Given the description of an element on the screen output the (x, y) to click on. 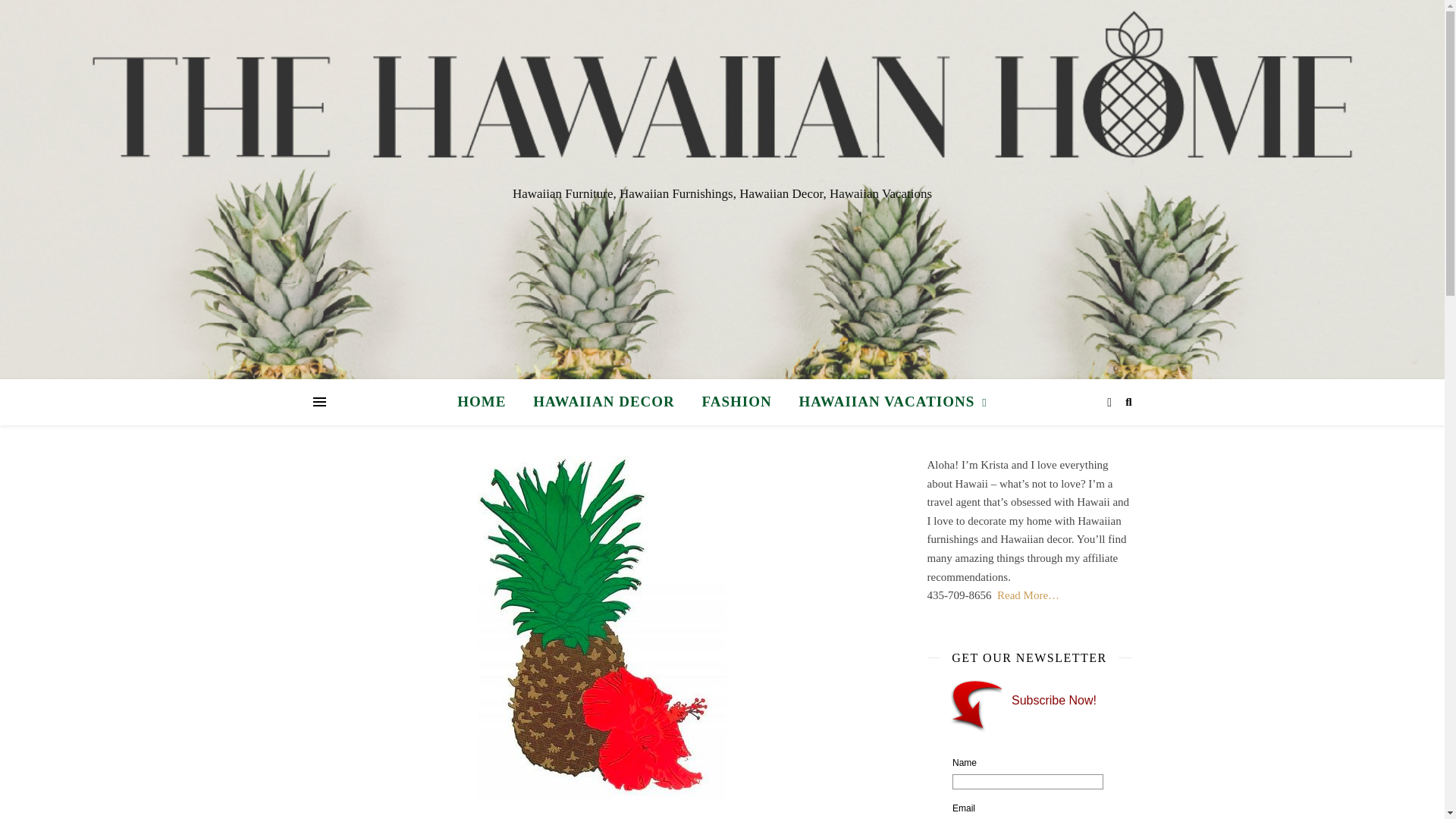
FASHION (737, 402)
HAWAIIAN VACATIONS (886, 402)
HOME (487, 402)
HAWAIIAN DECOR (604, 402)
